Given the description of an element on the screen output the (x, y) to click on. 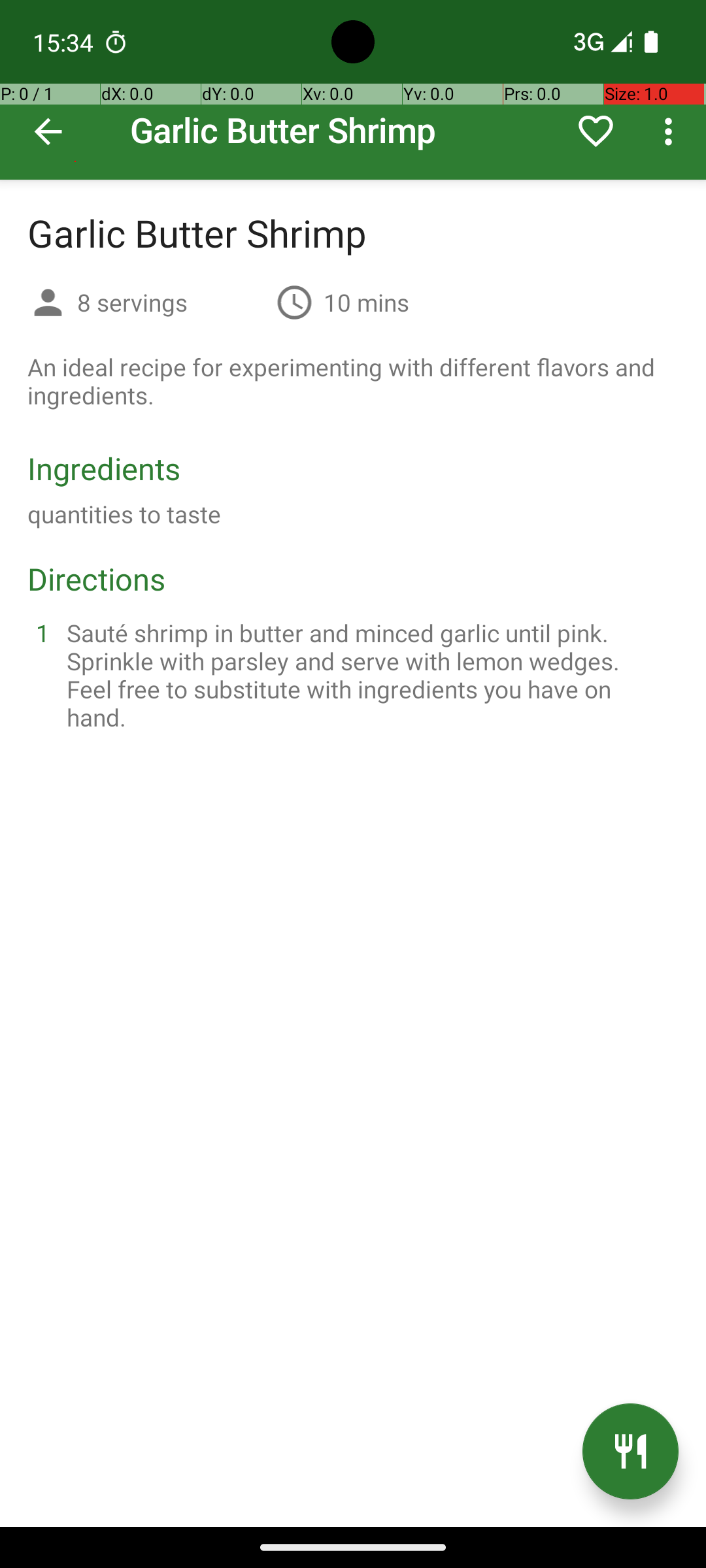
Sauté shrimp in butter and minced garlic until pink. Sprinkle with parsley and serve with lemon wedges. Feel free to substitute with ingredients you have on hand. Element type: android.widget.TextView (368, 674)
